Given the description of an element on the screen output the (x, y) to click on. 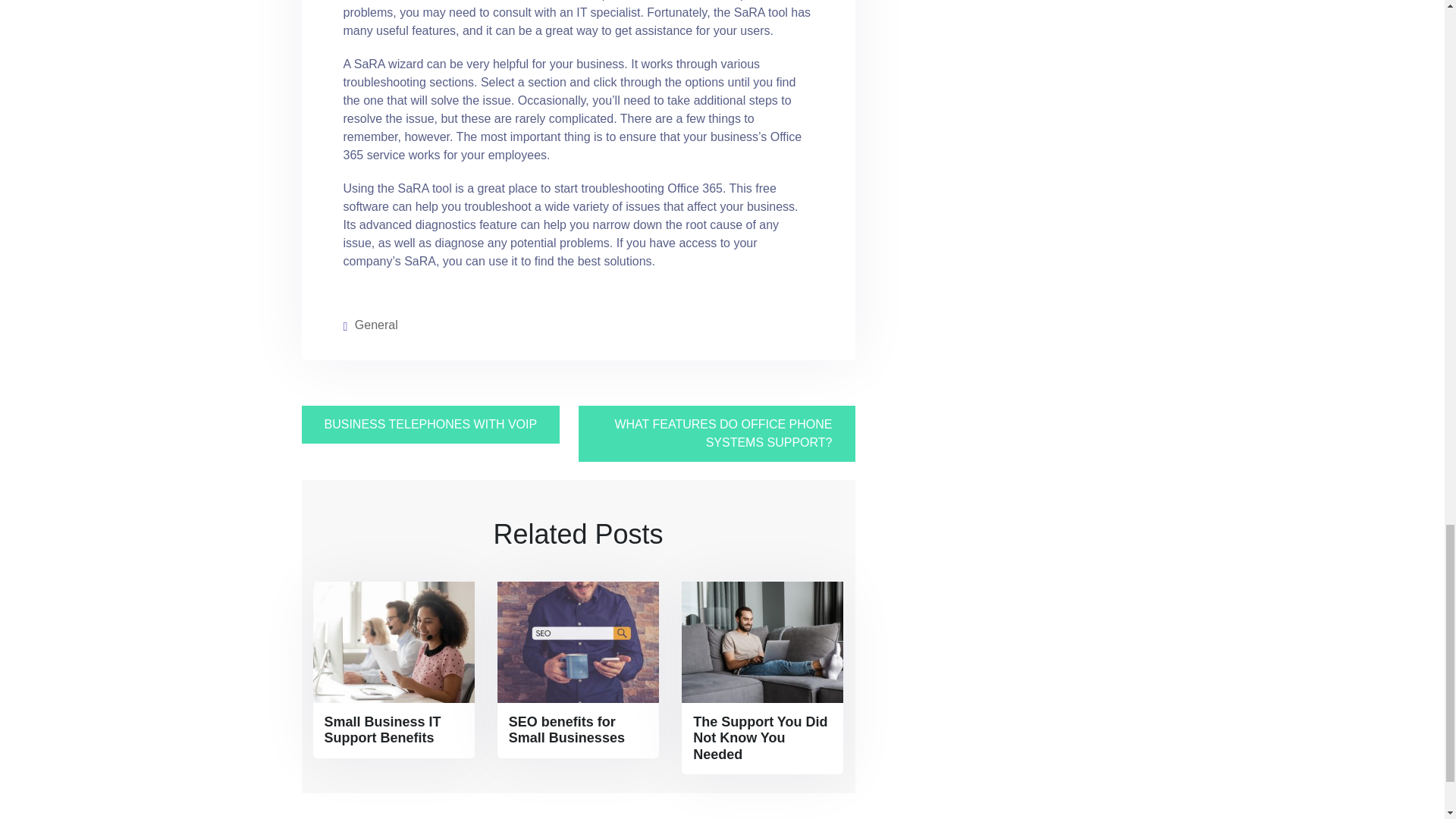
BUSINESS TELEPHONES WITH VOIP (430, 424)
The Support You Did Not Know You Needed (762, 738)
General (376, 324)
SEO benefits for Small Businesses (578, 730)
Small Business IT Support Benefits (393, 730)
WHAT FEATURES DO OFFICE PHONE SYSTEMS SUPPORT? (716, 433)
